Given the description of an element on the screen output the (x, y) to click on. 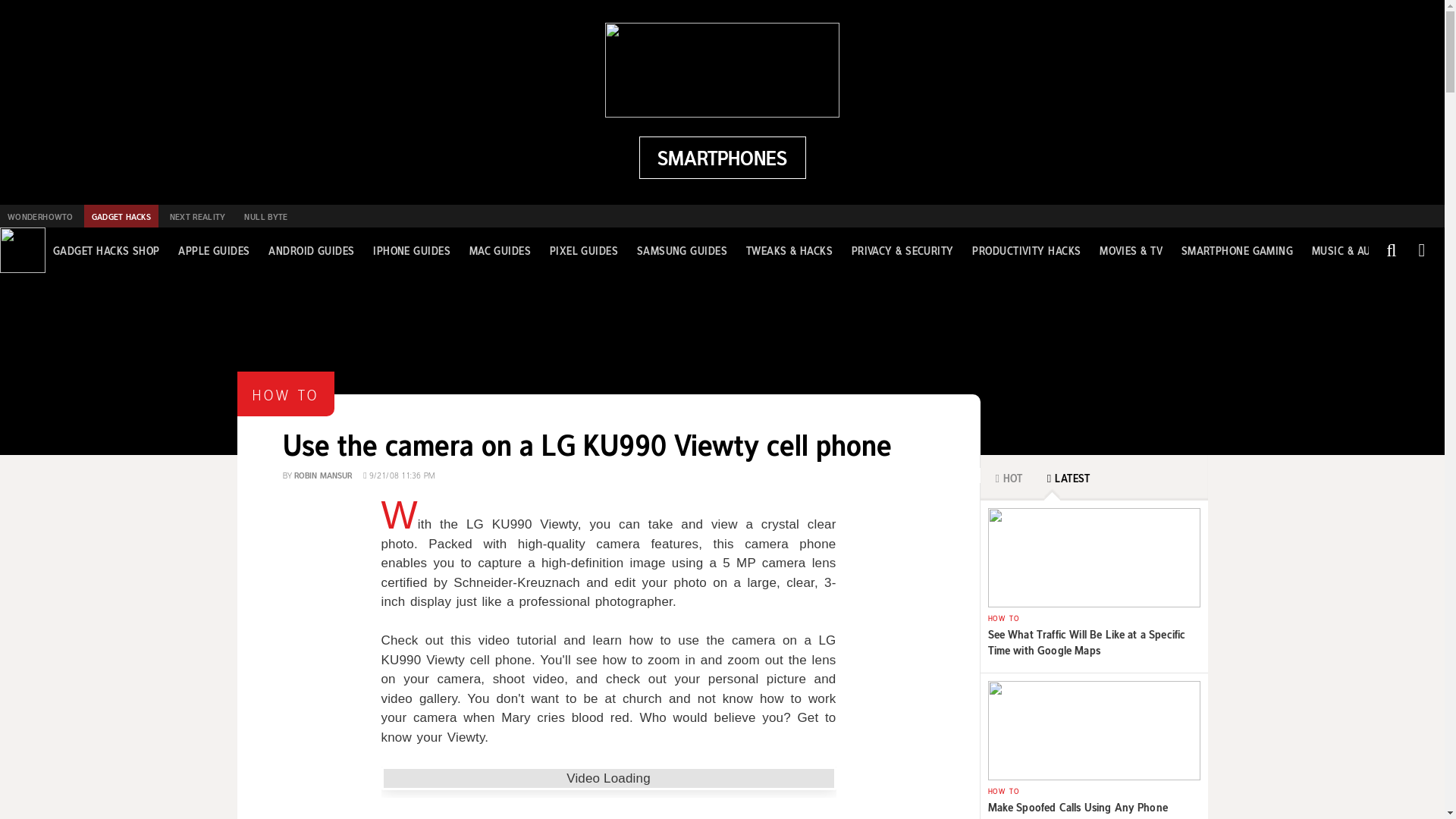
SMARTPHONE GAMING (1237, 249)
SAMSUNG GUIDES (681, 249)
WONDERHOWTO (40, 215)
ROBIN MANSUR (323, 473)
SMARTPHONES (722, 157)
GADGET HACKS (121, 215)
help for cell phones, pdas, iphones, android, and more (722, 157)
PRODUCTIVITY HACKS (1026, 249)
PIXEL GUIDES (583, 249)
IPHONE GUIDES (410, 249)
